Given the description of an element on the screen output the (x, y) to click on. 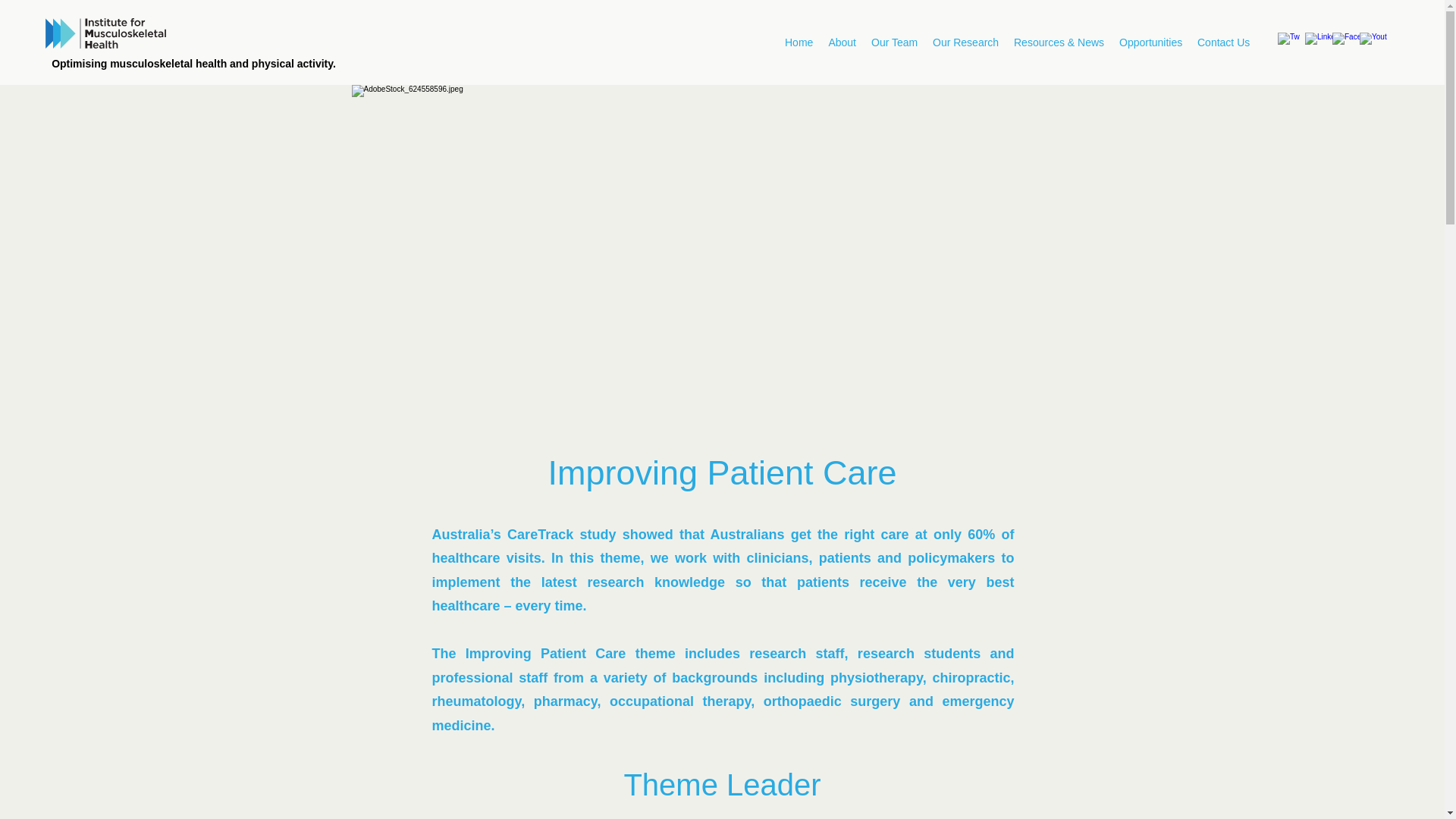
Our Team (893, 42)
Contact Us (1223, 42)
About (842, 42)
Our Research (965, 42)
Opportunities (1150, 42)
Home (799, 42)
